Given the description of an element on the screen output the (x, y) to click on. 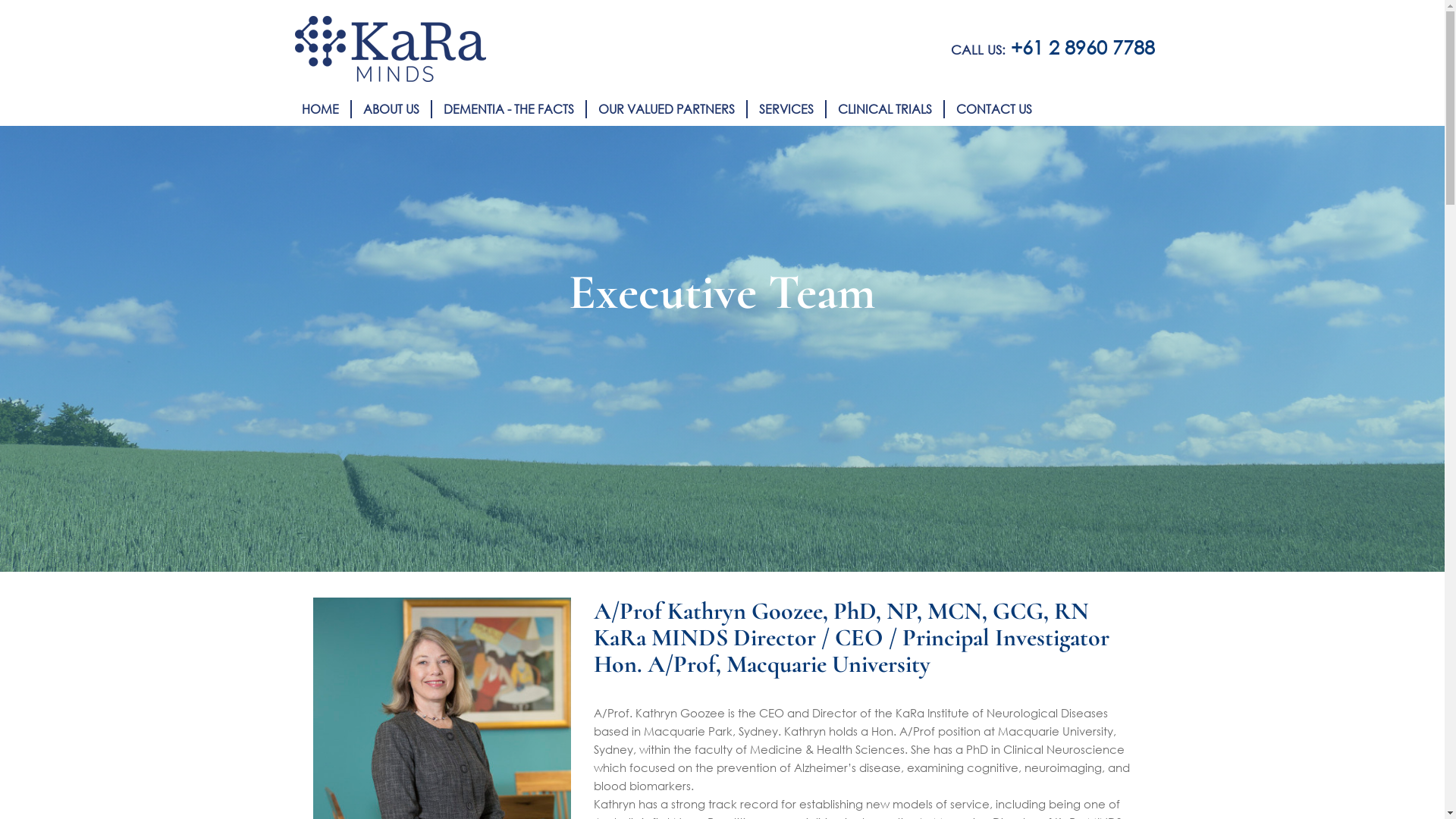
CONTACT US Element type: text (993, 108)
ABOUT US Element type: text (390, 108)
ABOUT US Element type: text (396, 109)
CLINICAL TRIALS Element type: text (884, 108)
HOME Element type: text (319, 108)
OUR VALUED PARTNERS Element type: text (665, 108)
SERVICES Element type: text (785, 108)
DEMENTIA - THE FACTS Element type: text (507, 108)
+61 2 8960 7788 Element type: text (1082, 46)
